Given the description of an element on the screen output the (x, y) to click on. 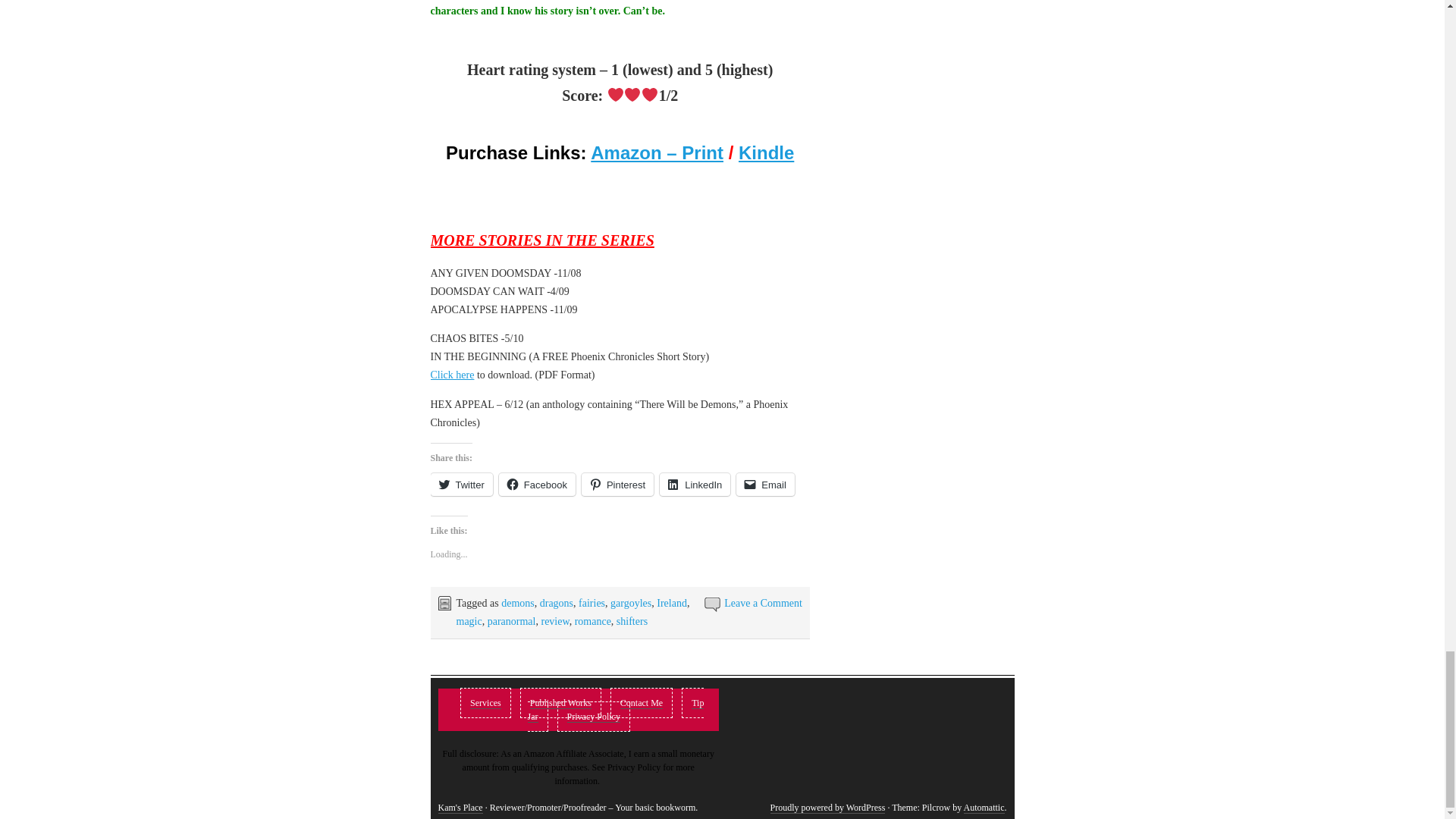
Twitter (461, 484)
Click here (452, 374)
Click to share on LinkedIn (694, 484)
Kindle (765, 152)
Click to share on Facebook (537, 484)
Click to share on Pinterest (616, 484)
Page 1 (619, 347)
Click to share on Twitter (461, 484)
Click to email a link to a friend (765, 484)
Facebook (537, 484)
